Given the description of an element on the screen output the (x, y) to click on. 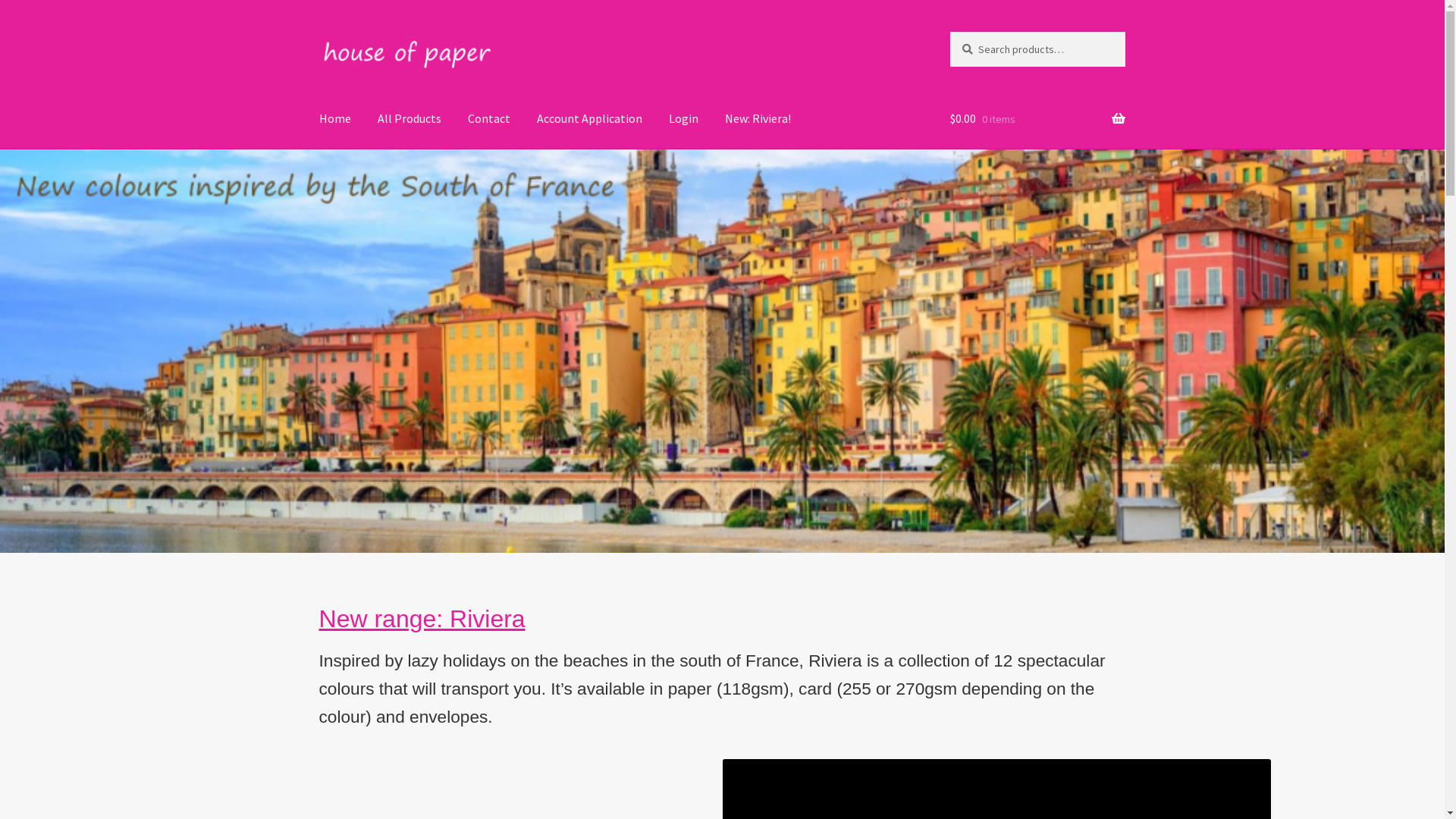
All Products Element type: text (409, 118)
Home Element type: text (335, 118)
$0.00 0 items Element type: text (1037, 118)
New: Riviera! Element type: text (757, 118)
Skip to navigation Element type: text (318, 31)
Search Element type: text (949, 31)
Account Application Element type: text (589, 118)
Contact Element type: text (488, 118)
Login Element type: text (683, 118)
New range: Riviera Element type: text (422, 618)
